Given the description of an element on the screen output the (x, y) to click on. 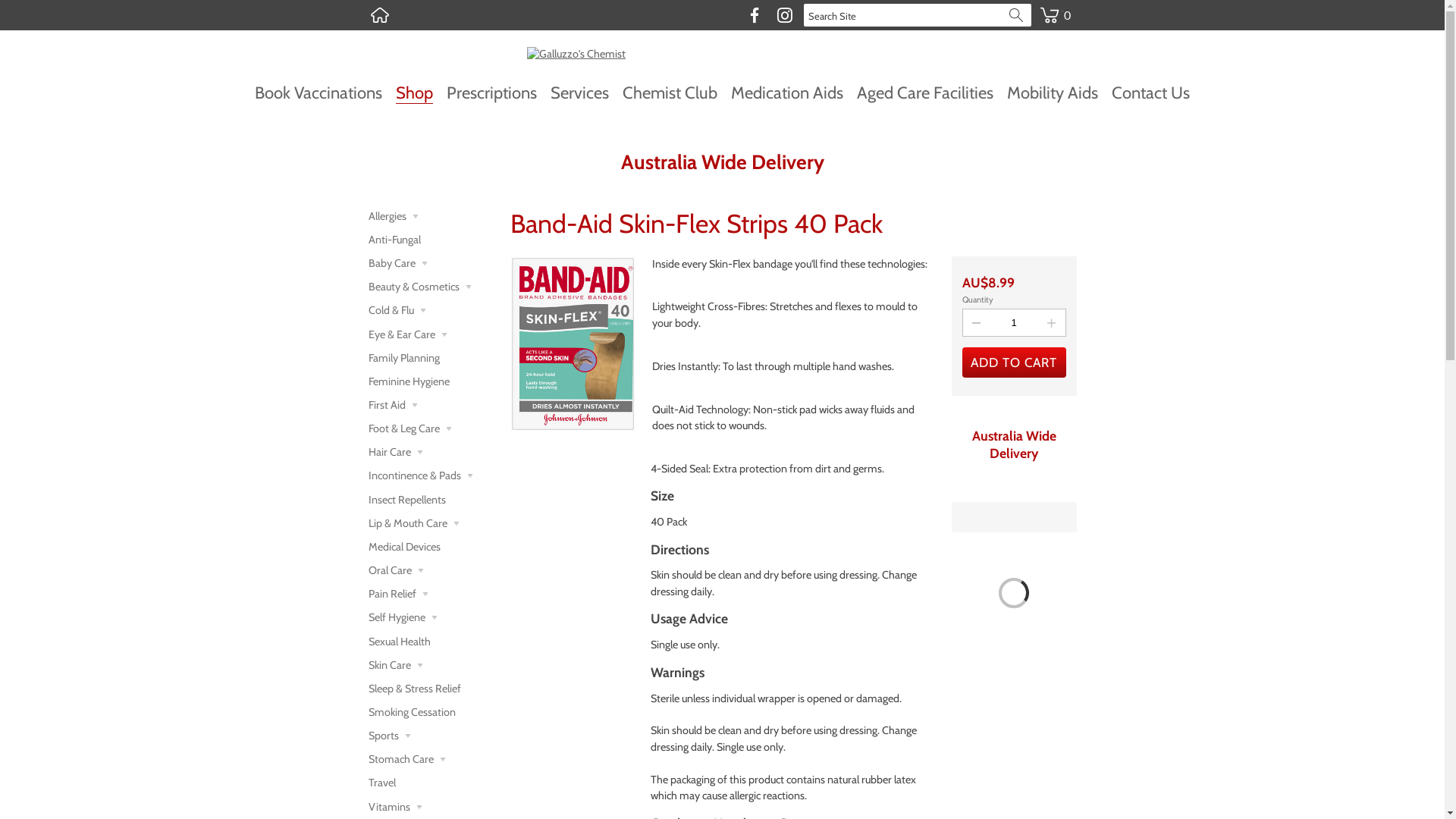
Chemist Club Element type: text (668, 92)
Home Element type: hover (379, 15)
  0 Element type: text (1054, 6)
Medical Devices Element type: text (430, 547)
Baby Care      Element type: text (430, 263)
First Aid      Element type: text (430, 405)
Aged Care Facilities Element type: text (924, 92)
Travel Element type: text (430, 782)
Foot & Leg Care      Element type: text (430, 428)
Anti-Fungal Element type: text (430, 239)
Oral Care      Element type: text (430, 570)
Family Planning Element type: text (430, 358)
Self Hygiene      Element type: text (430, 617)
Skin Care      Element type: text (430, 665)
Smoking Cessation Element type: text (430, 712)
Insect Repellents Element type: text (430, 500)
Cold & Flu      Element type: text (430, 310)
Beauty & Cosmetics      Element type: text (430, 286)
Incontinence & Pads      Element type: text (430, 475)
Mobility Aids Element type: text (1052, 92)
Sleep & Stress Relief Element type: text (430, 688)
Sports      Element type: text (430, 735)
Eye & Ear Care      Element type: text (430, 334)
Vitamins      Element type: text (430, 807)
Pain Relief      Element type: text (430, 594)
  Element type: text (379, 15)
Sexual Health Element type: text (430, 641)
Facebook Element type: hover (753, 15)
Services Element type: text (579, 92)
Stomach Care      Element type: text (430, 759)
Lip & Mouth Care      Element type: text (430, 523)
Medication Aids Element type: text (787, 92)
Hair Care      Element type: text (430, 452)
Feminine Hygiene Element type: text (430, 381)
Shop Element type: text (414, 92)
Prescriptions Element type: text (490, 92)
Allergies      Element type: text (430, 216)
Contact Us Element type: text (1150, 92)
Book Vaccinations Element type: text (318, 92)
Instagram Element type: hover (783, 15)
